Given the description of an element on the screen output the (x, y) to click on. 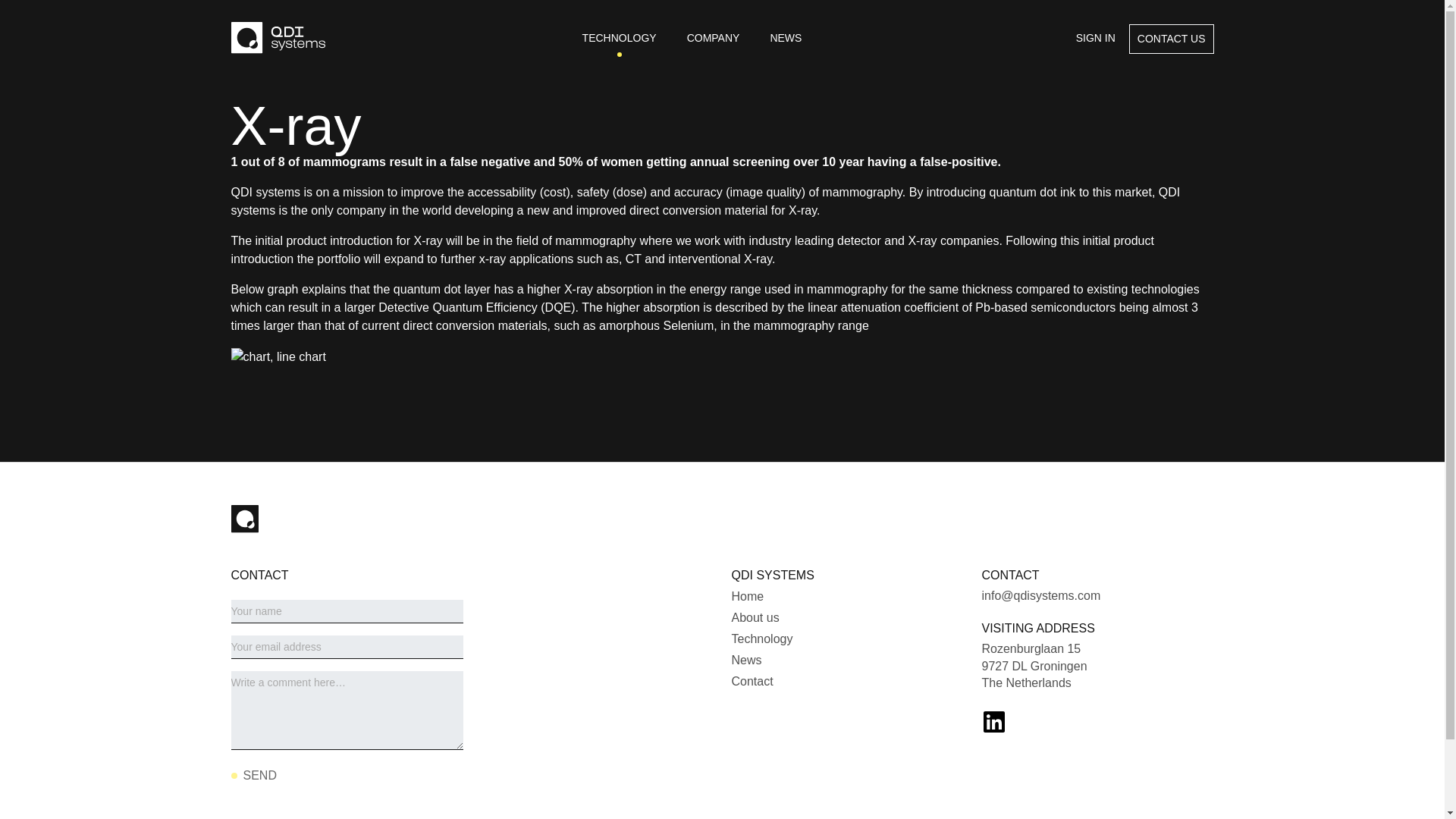
CONTACT US (1171, 39)
About us (754, 617)
SIGN IN (1095, 39)
NEWS (785, 38)
Contact (751, 680)
SEND (253, 775)
TECHNOLOGY (619, 38)
COMPANY (713, 38)
News (745, 659)
Home (746, 595)
